Given the description of an element on the screen output the (x, y) to click on. 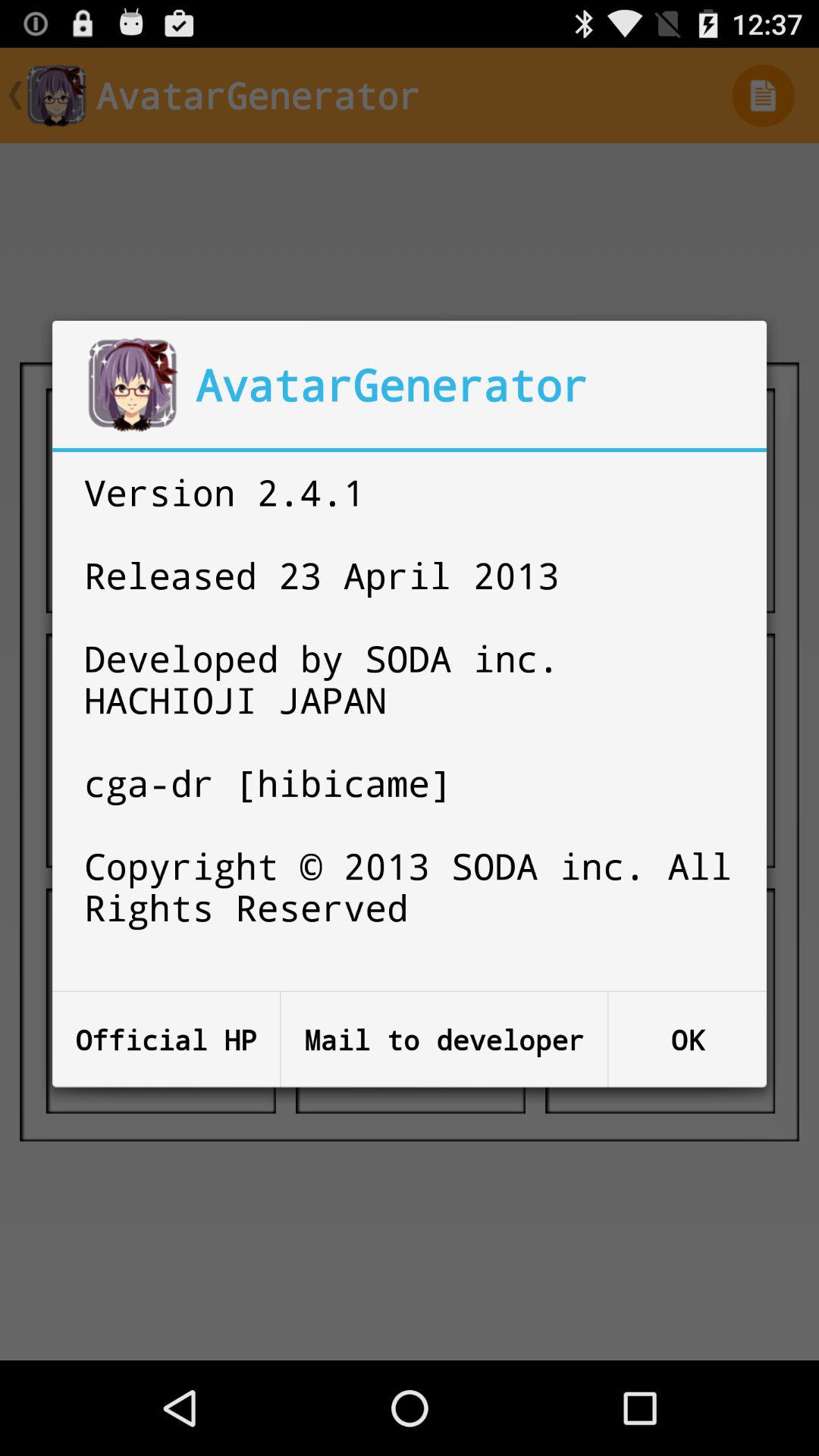
choose app below version 2 4 item (443, 1039)
